Given the description of an element on the screen output the (x, y) to click on. 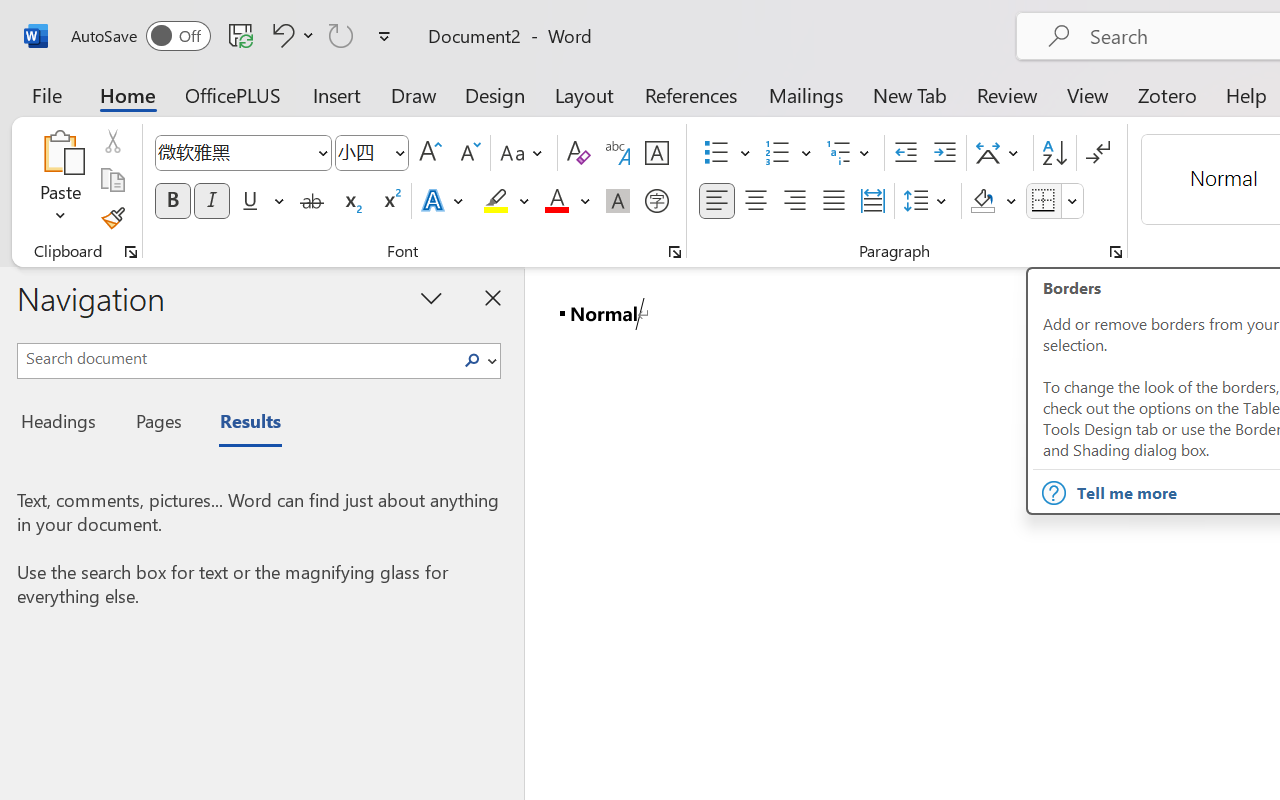
Clear Formatting (578, 153)
Grow Font (430, 153)
Borders (1055, 201)
Pages (156, 424)
Show/Hide Editing Marks (1098, 153)
Search (478, 360)
Quick Access Toolbar (233, 36)
Shading RGB(0, 0, 0) (982, 201)
AutoSave (140, 35)
Numbering (778, 153)
Borders (1044, 201)
Subscript (350, 201)
Shading (993, 201)
Home (127, 94)
